Given the description of an element on the screen output the (x, y) to click on. 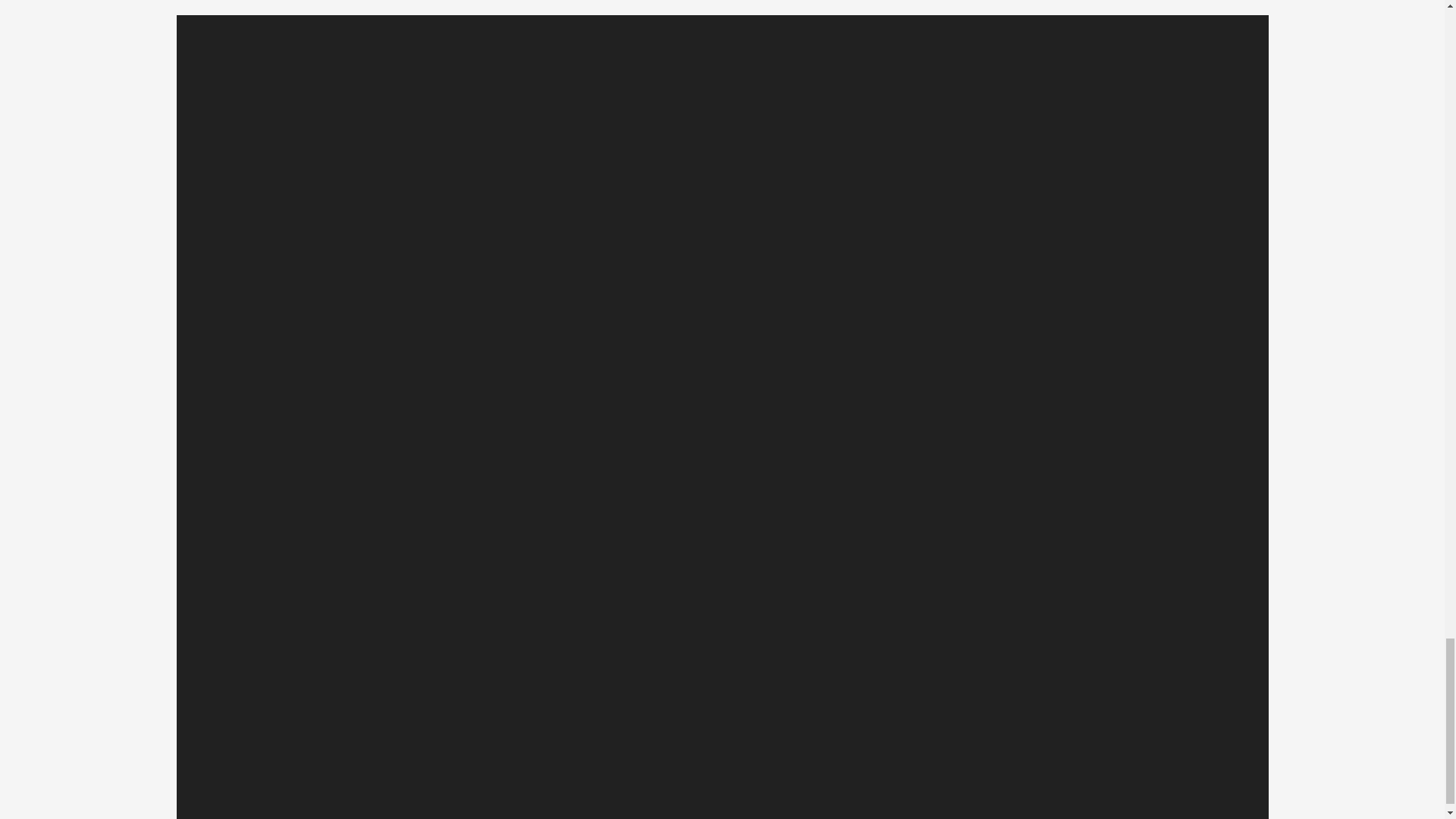
Pataka (1029, 740)
Tazo (438, 740)
All projects (734, 740)
